Given the description of an element on the screen output the (x, y) to click on. 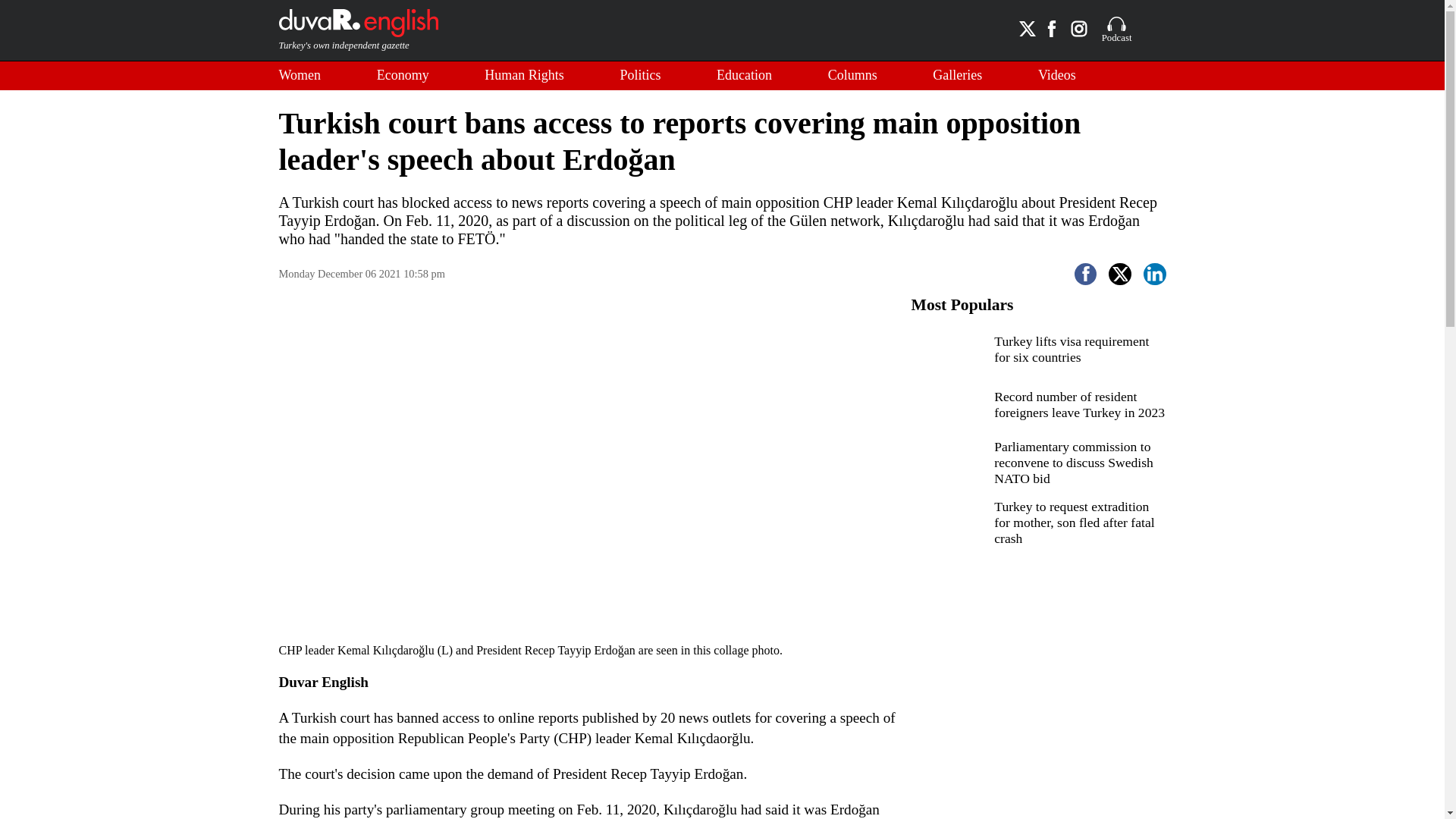
Human Rights (524, 75)
Podcast (1117, 30)
Economy (403, 75)
Videos (1056, 75)
Politics (640, 75)
Women (300, 75)
Education (743, 75)
Share with Facebook (1085, 273)
Galleries (957, 75)
